Given the description of an element on the screen output the (x, y) to click on. 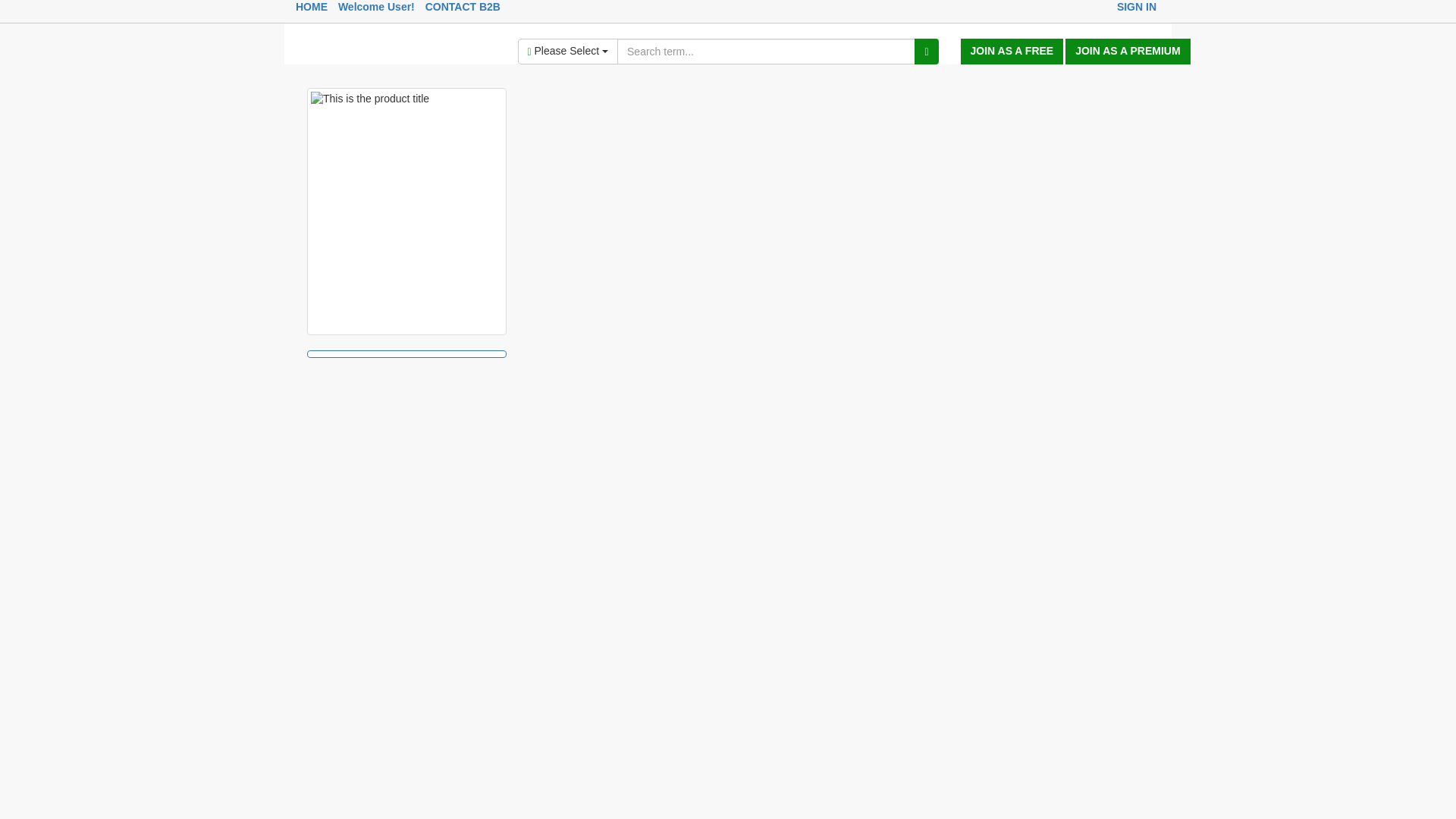
CONTACT B2B (462, 6)
Please Select (566, 51)
Welcome User! (375, 6)
JOIN AS A FREE (1010, 51)
HOME (311, 6)
JOIN AS A PREMIUM (1127, 51)
SIGN IN (1136, 6)
